Given the description of an element on the screen output the (x, y) to click on. 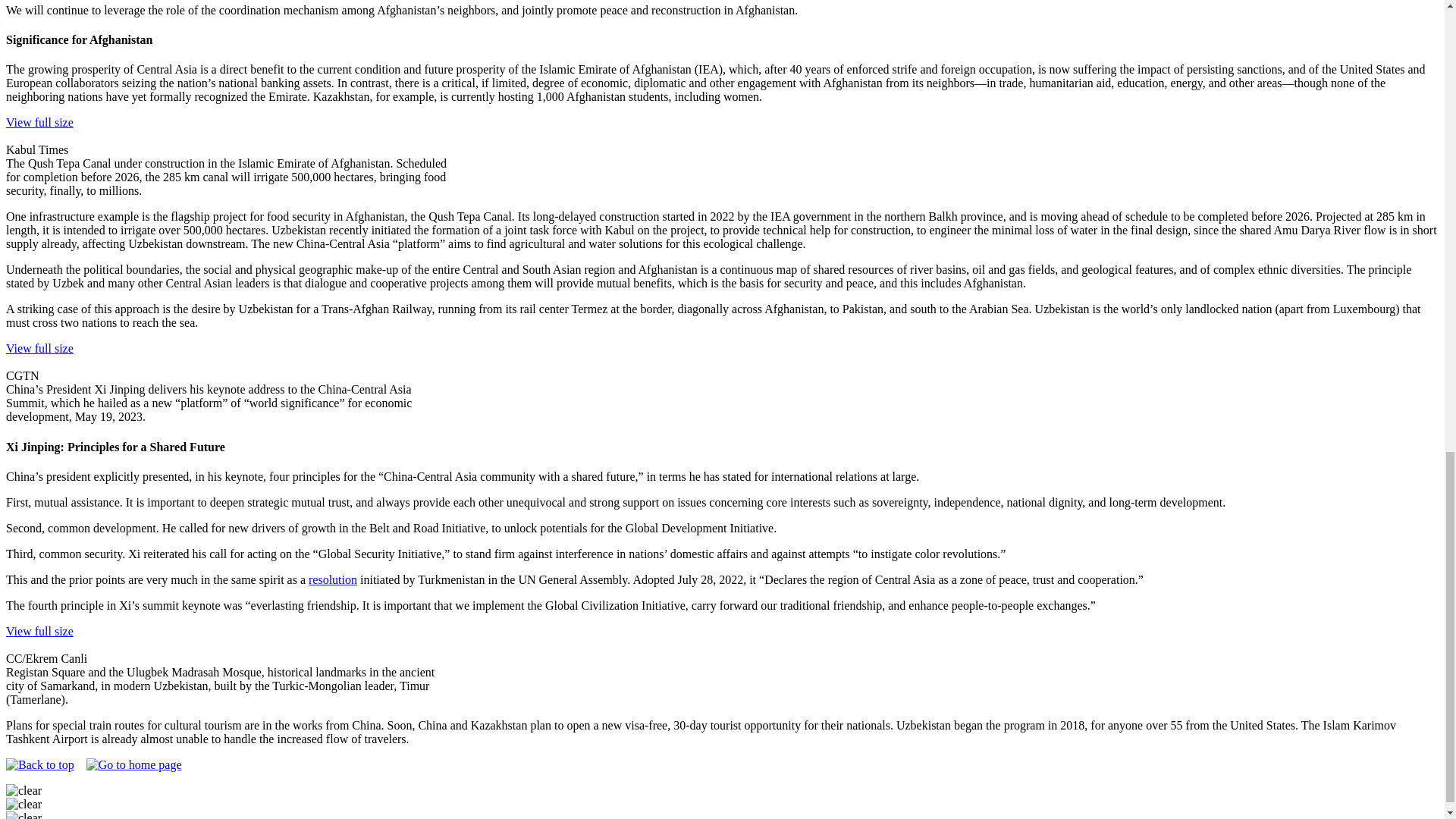
Go to home page (133, 765)
View full size (39, 355)
View full size (39, 637)
resolution (332, 579)
View full size (39, 129)
Back to top (39, 765)
